Given the description of an element on the screen output the (x, y) to click on. 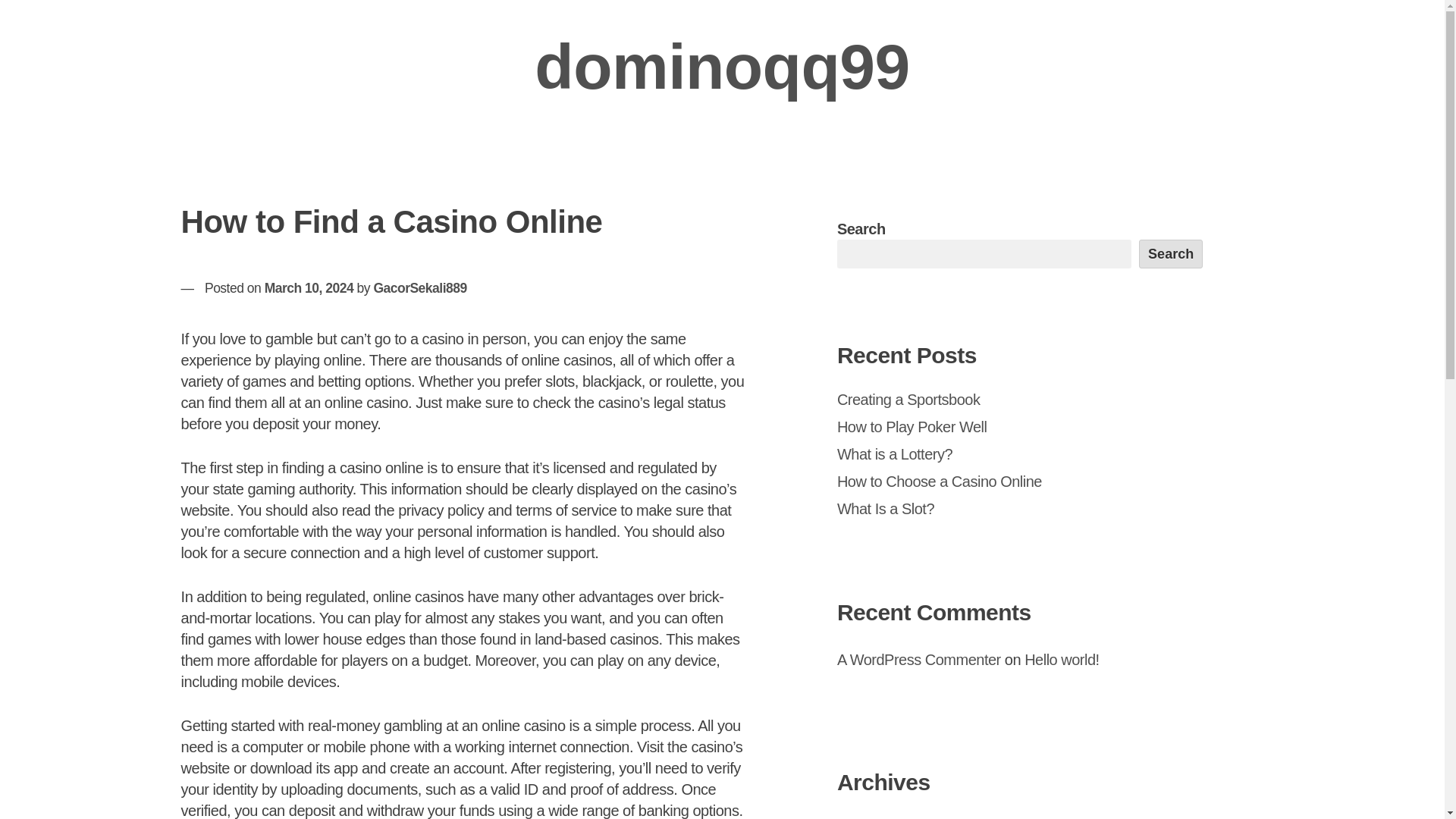
How to Choose a Casino Online (939, 481)
How to Play Poker Well (912, 426)
Search (1171, 253)
What Is a Slot? (885, 508)
Hello world! (1062, 659)
Creating a Sportsbook (908, 399)
March 10, 2024 (308, 287)
July 2024 (867, 818)
A WordPress Commenter (919, 659)
dominoqq99 (721, 66)
What is a Lottery? (894, 453)
GacorSekali889 (418, 287)
